Given the description of an element on the screen output the (x, y) to click on. 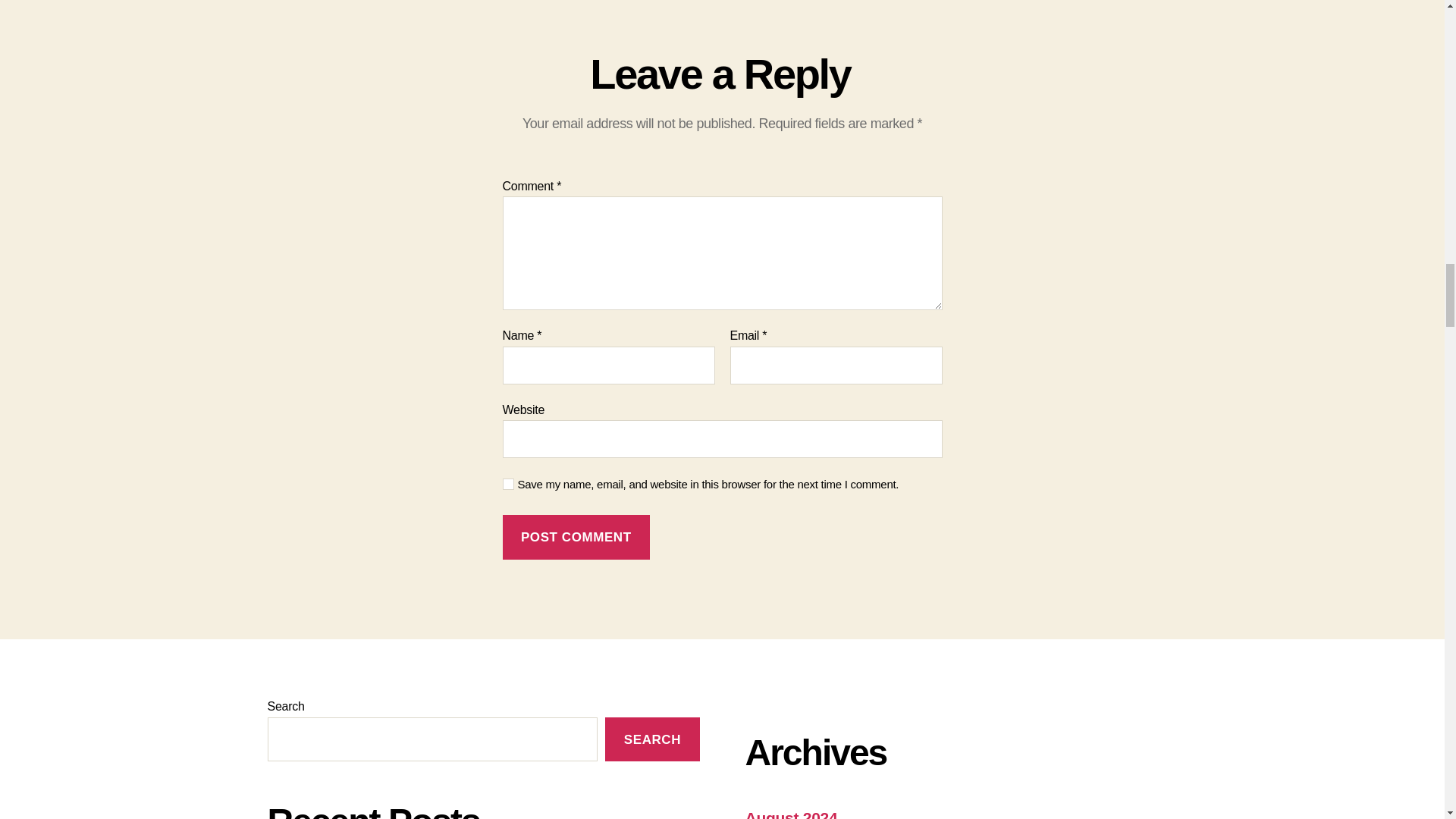
SEARCH (651, 739)
yes (507, 483)
August 2024 (790, 814)
Post Comment (575, 537)
Post Comment (575, 537)
